Given the description of an element on the screen output the (x, y) to click on. 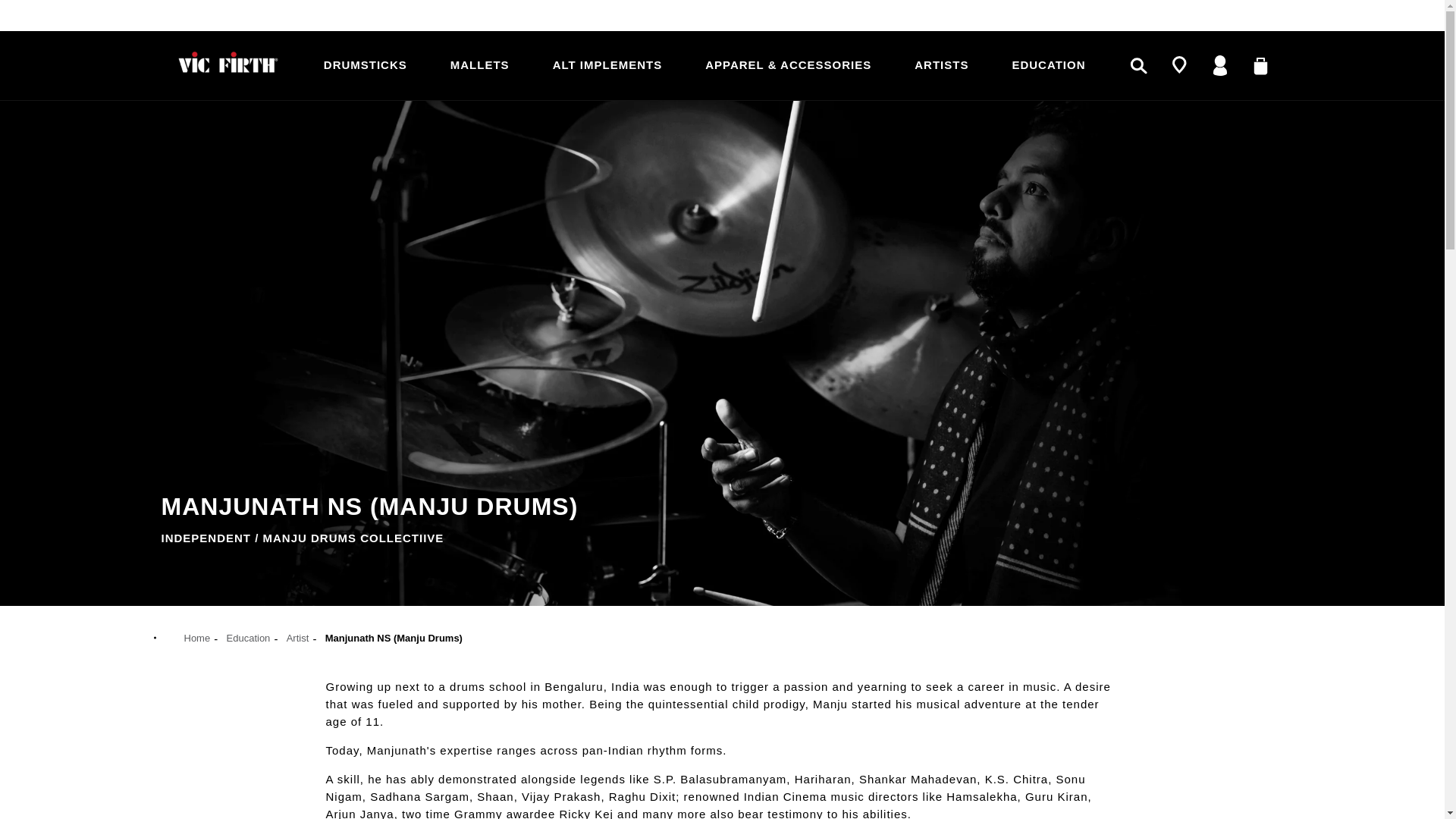
SKIP TO CONTENT (75, 16)
